Given the description of an element on the screen output the (x, y) to click on. 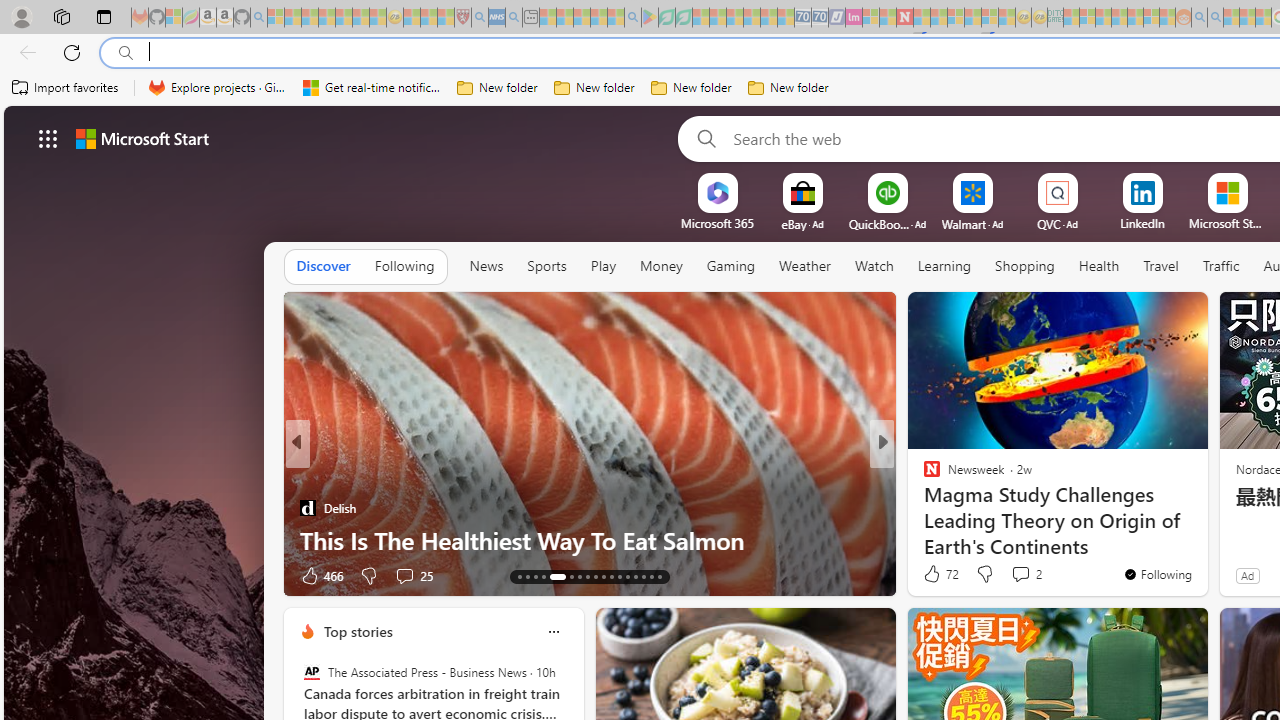
Weather (804, 267)
Following (404, 267)
View comments 5 Comment (1019, 574)
AutomationID: tab-26 (635, 576)
Flannels or FlipFlops (923, 507)
The Associated Press - Business News (311, 672)
View comments 2 Comment (1025, 574)
223 Like (936, 574)
